Given the description of an element on the screen output the (x, y) to click on. 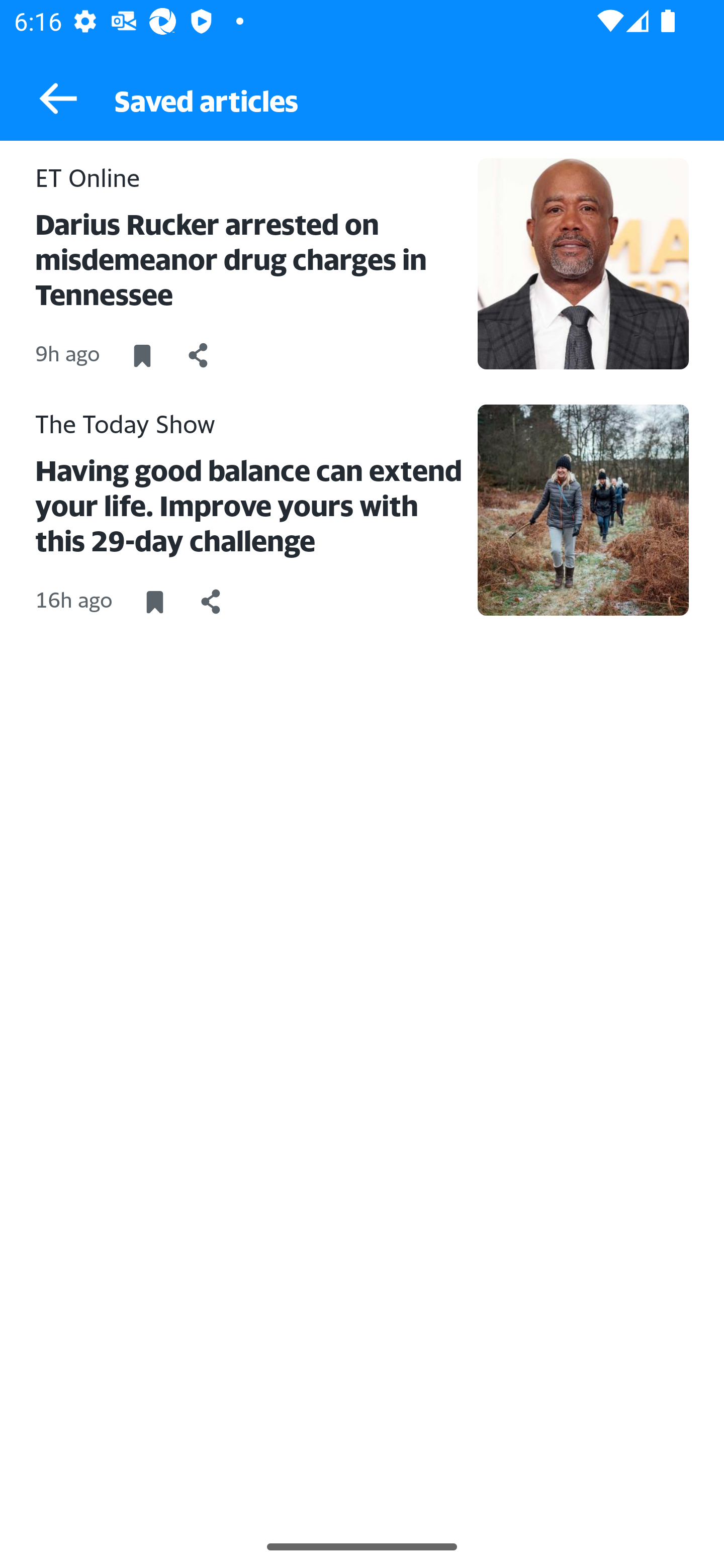
Back (49, 98)
Remove this article from your saved list (142, 355)
Share this news article (198, 355)
Remove this article from your saved list (154, 602)
Share this news article (210, 602)
